Given the description of an element on the screen output the (x, y) to click on. 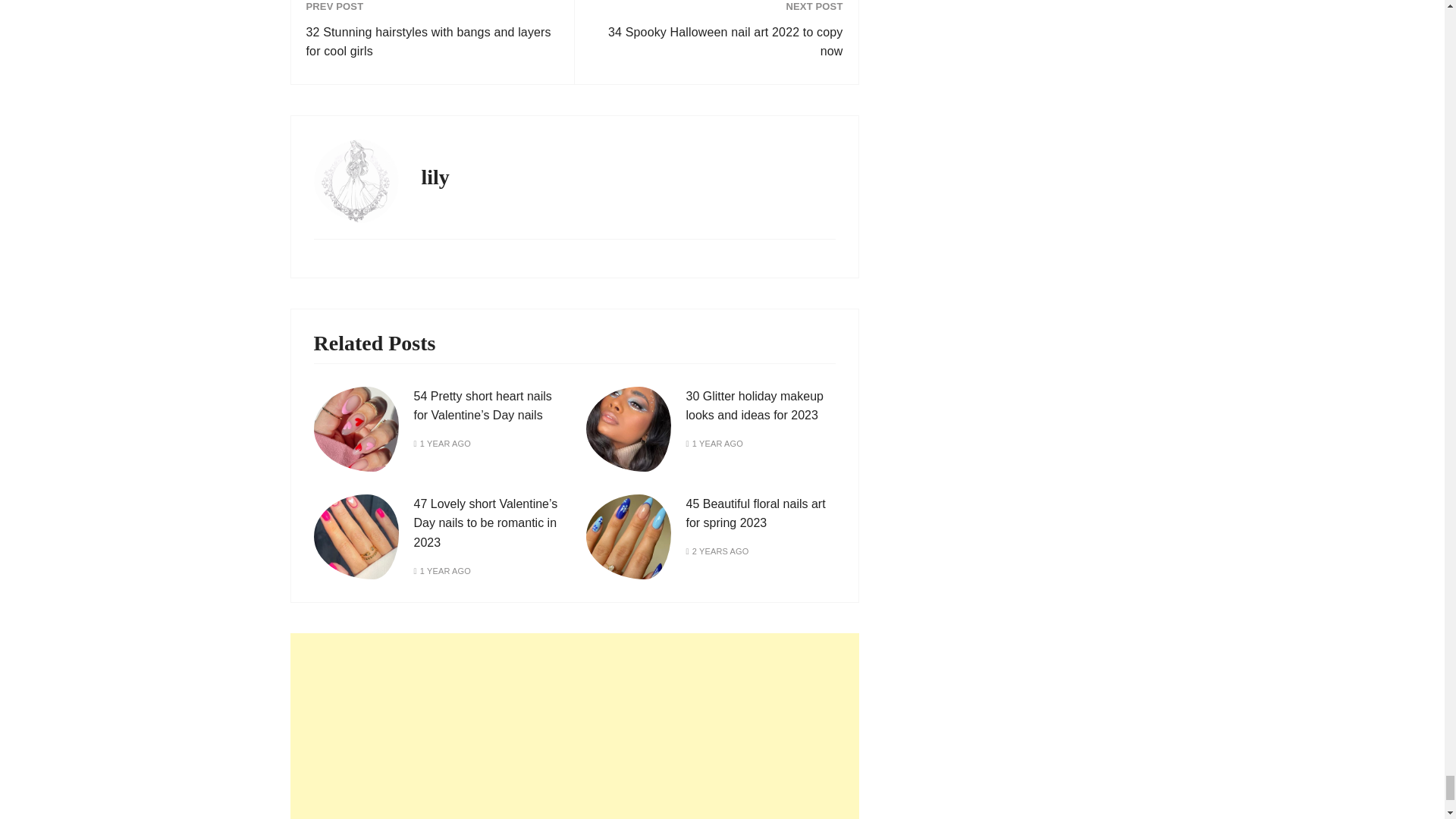
32 Stunning hairstyles with bangs and layers for cool girls (432, 41)
34 Spooky Halloween nail art 2022 to copy now (716, 41)
30 Glitter holiday makeup looks and ideas for 2023 (753, 405)
